Given the description of an element on the screen output the (x, y) to click on. 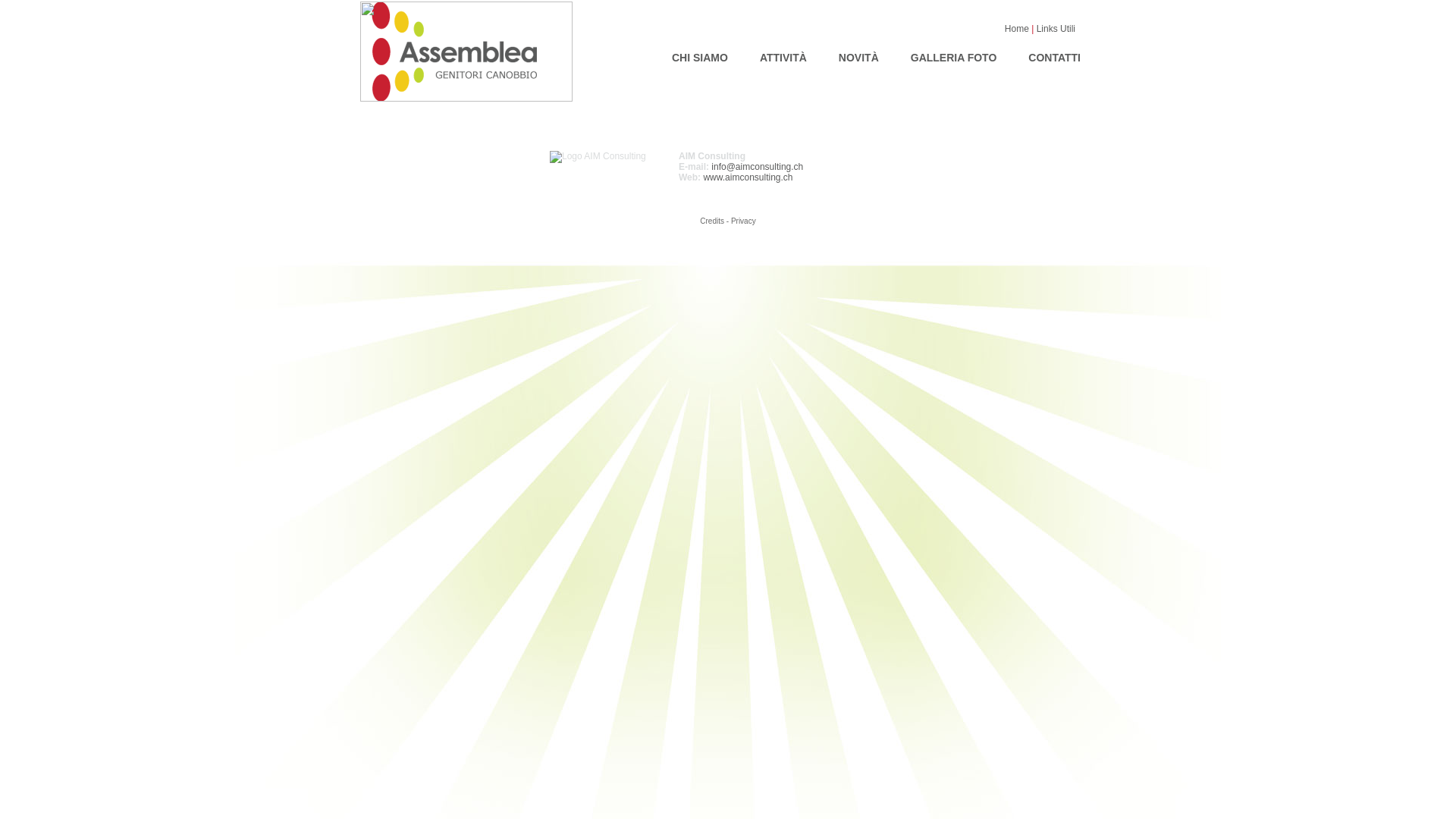
Privacy Element type: text (743, 220)
CHI SIAMO Element type: text (699, 55)
Home Element type: text (1017, 28)
info@aimconsulting.ch Element type: text (757, 166)
CONTATTI Element type: text (1054, 55)
www.aimconsulting.ch Element type: text (747, 177)
Links Utili Element type: text (1055, 28)
AGC - Assemblea Genitori Canobbio Element type: hover (466, 98)
GALLERIA FOTO Element type: text (953, 55)
Credits Element type: text (711, 220)
